Given the description of an element on the screen output the (x, y) to click on. 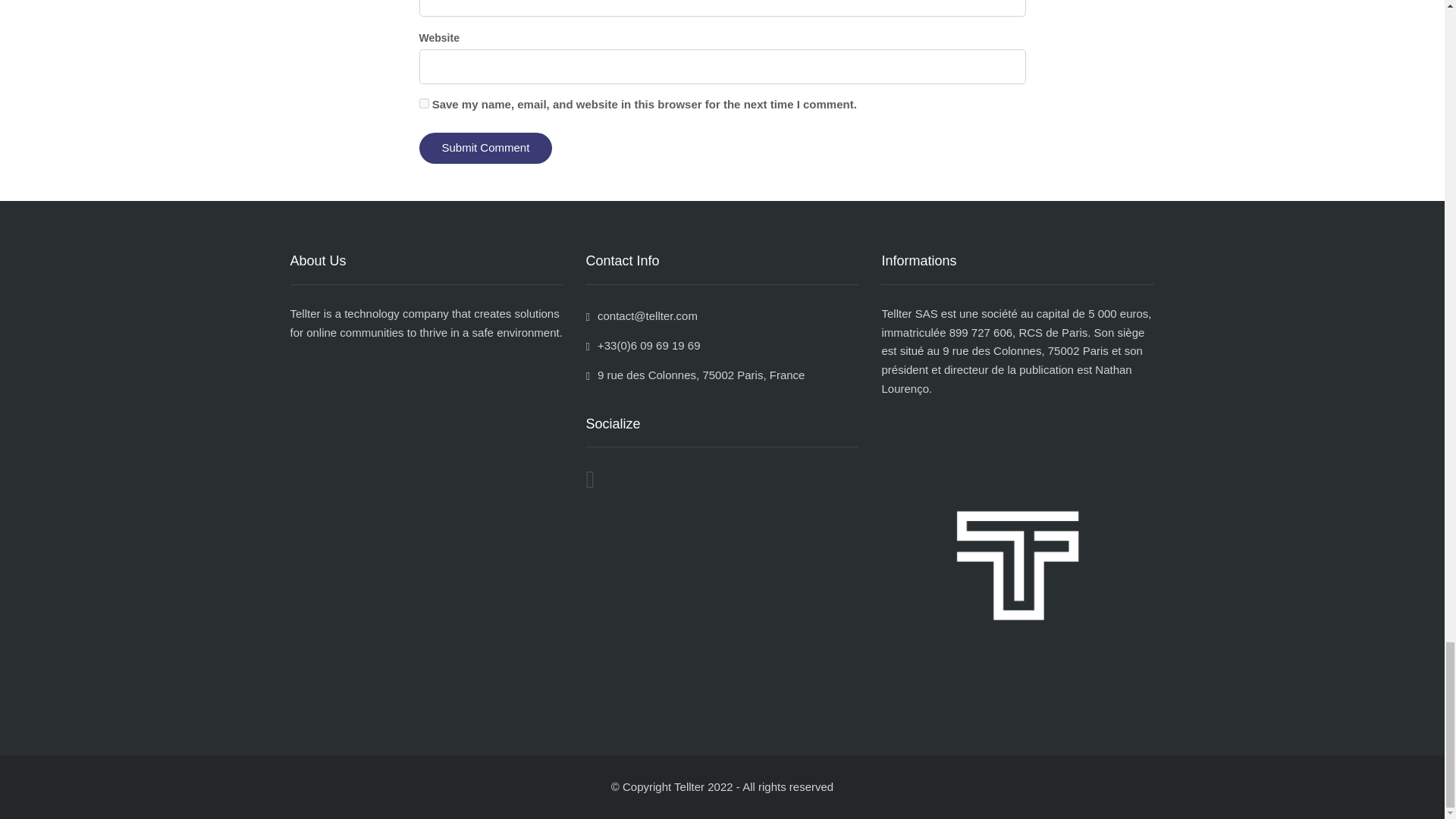
9 rue des Colonnes, 75002 Paris, France (695, 374)
Submit Comment (485, 147)
yes (423, 103)
Submit Comment (485, 147)
